Given the description of an element on the screen output the (x, y) to click on. 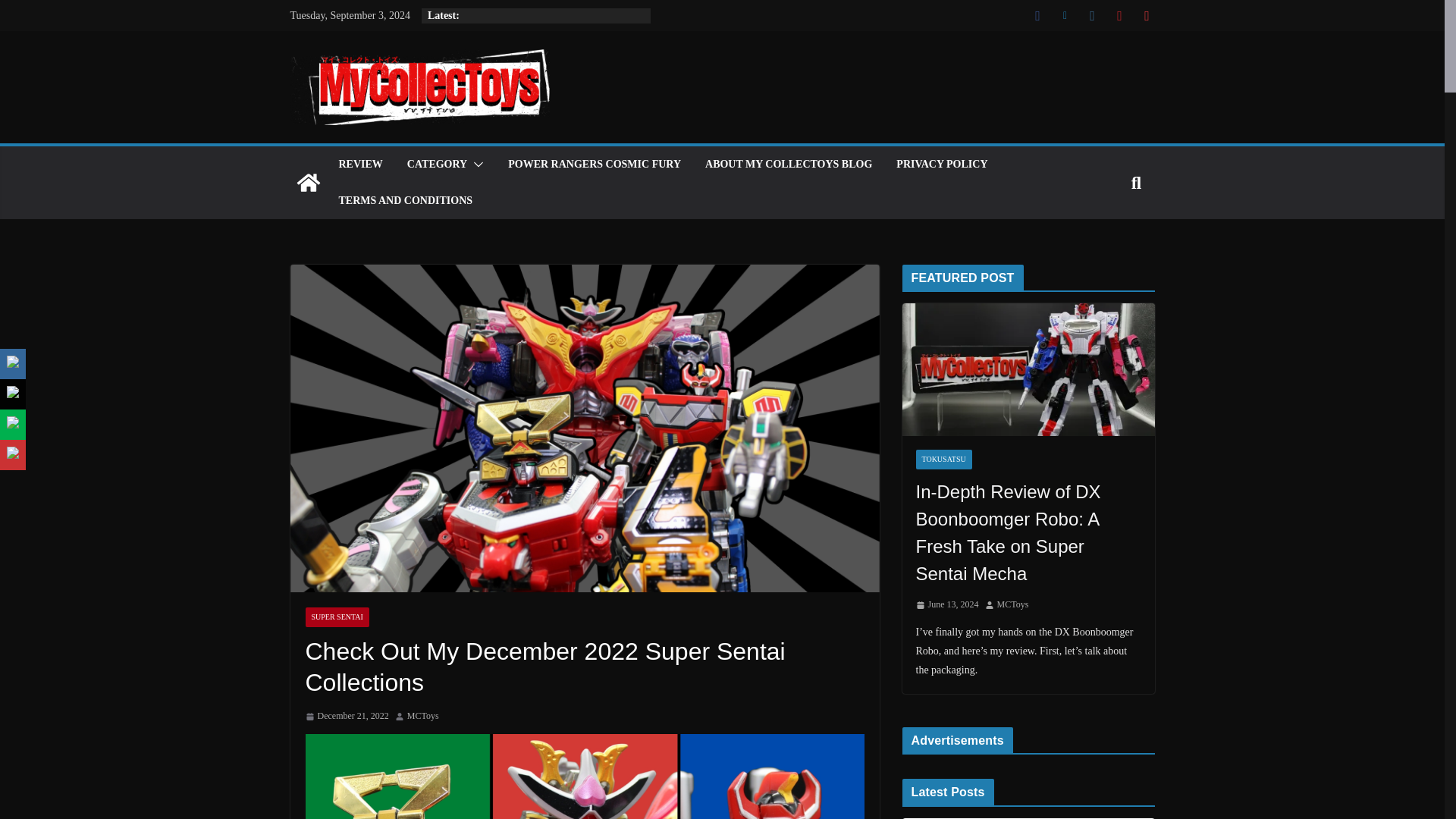
MyCollecToys (307, 182)
MCToys (423, 716)
POWER RANGERS COSMIC FURY (594, 164)
ABOUT MY COLLECTOYS BLOG (788, 164)
MCToys (423, 716)
REVIEW (359, 164)
PRIVACY POLICY (941, 164)
CATEGORY (437, 164)
12:24 am (346, 716)
TERMS AND CONDITIONS (404, 200)
